Given the description of an element on the screen output the (x, y) to click on. 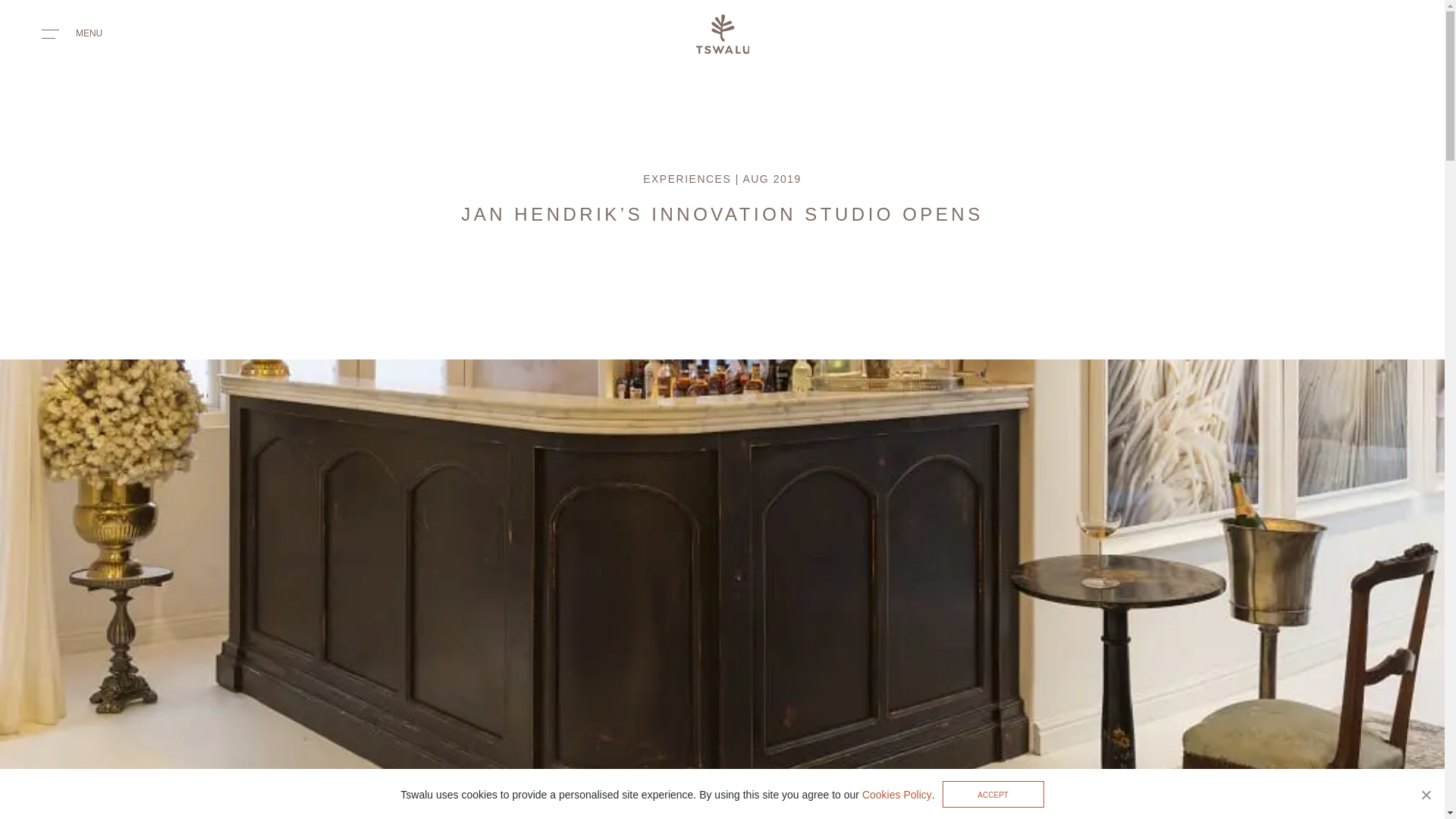
No (1425, 794)
COMMUNITY (483, 803)
